Given the description of an element on the screen output the (x, y) to click on. 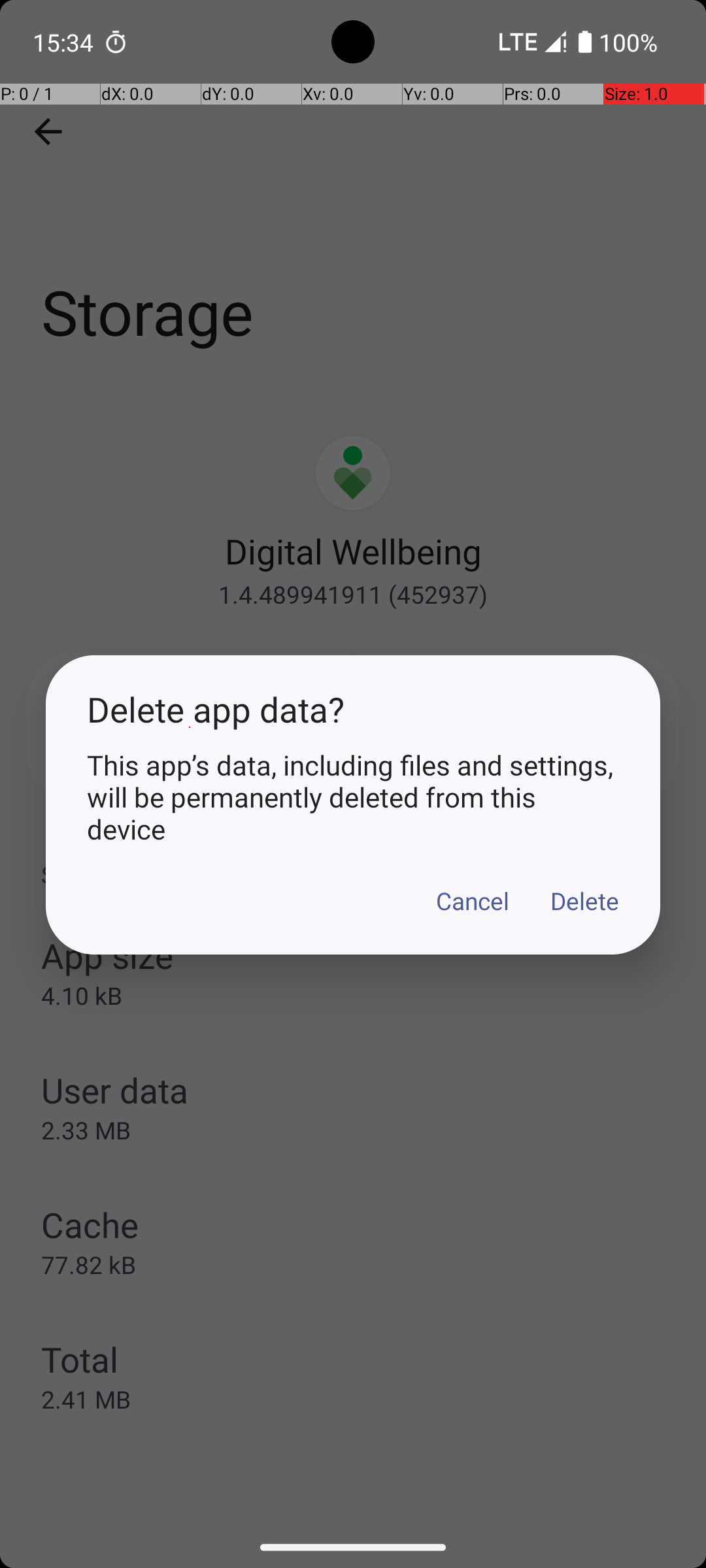
Delete app data? Element type: android.widget.TextView (352, 709)
This app’s data, including files and settings, will be permanently deleted from this device Element type: android.widget.TextView (352, 796)
